Given the description of an element on the screen output the (x, y) to click on. 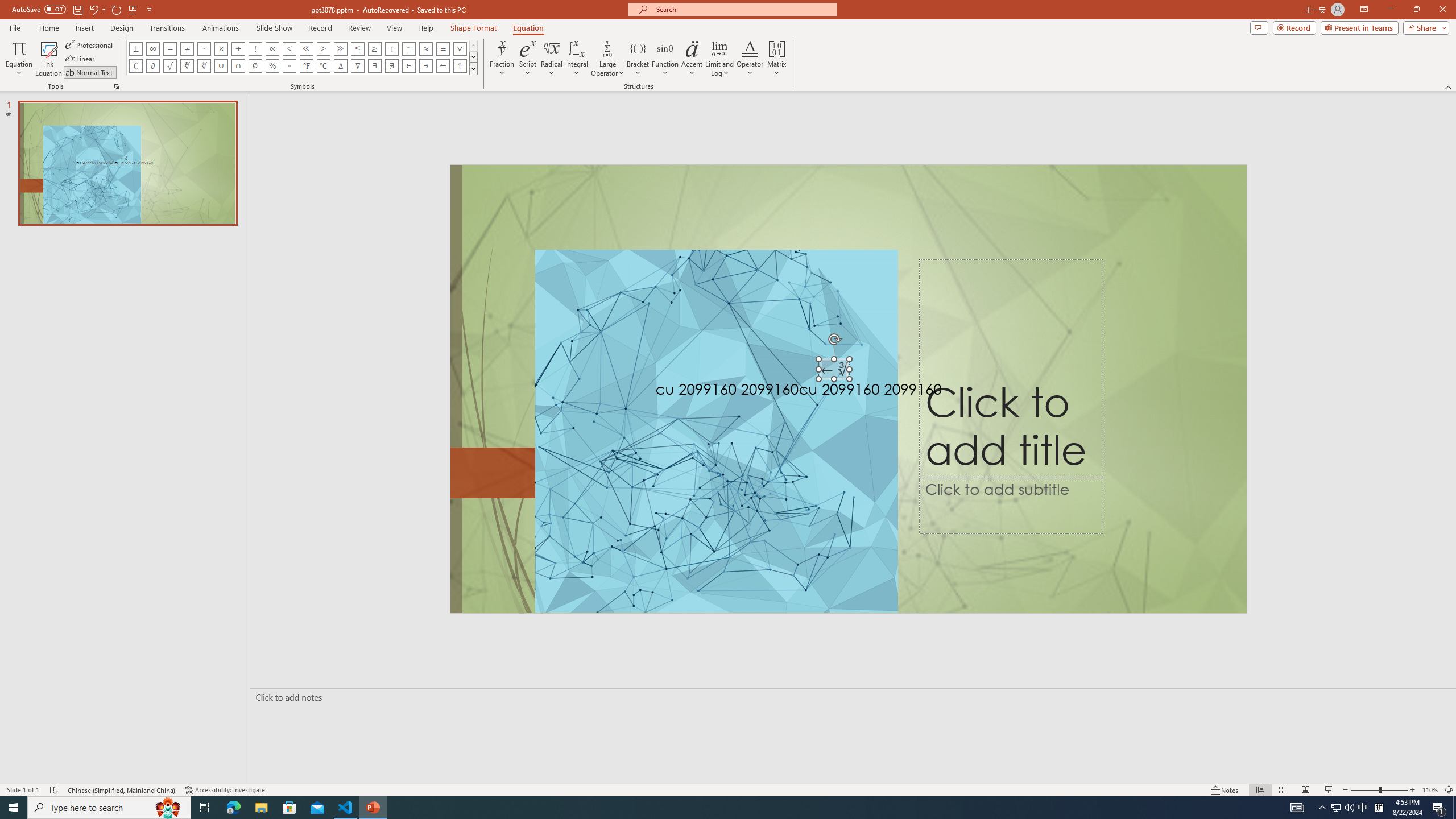
Equation Symbols (472, 68)
Normal Text (90, 72)
Equation Options... (116, 85)
AutomationID: EquationSymbolsInsertGallery (302, 57)
Equation Symbol Greater Than (322, 48)
Equation Symbol Fourth Root (203, 65)
Equation Symbol Partial Differential (152, 65)
Equation Symbol Division Sign (238, 48)
Equation Symbol Increment (340, 65)
Operator (749, 58)
Equation Symbol Percentage (272, 65)
